Given the description of an element on the screen output the (x, y) to click on. 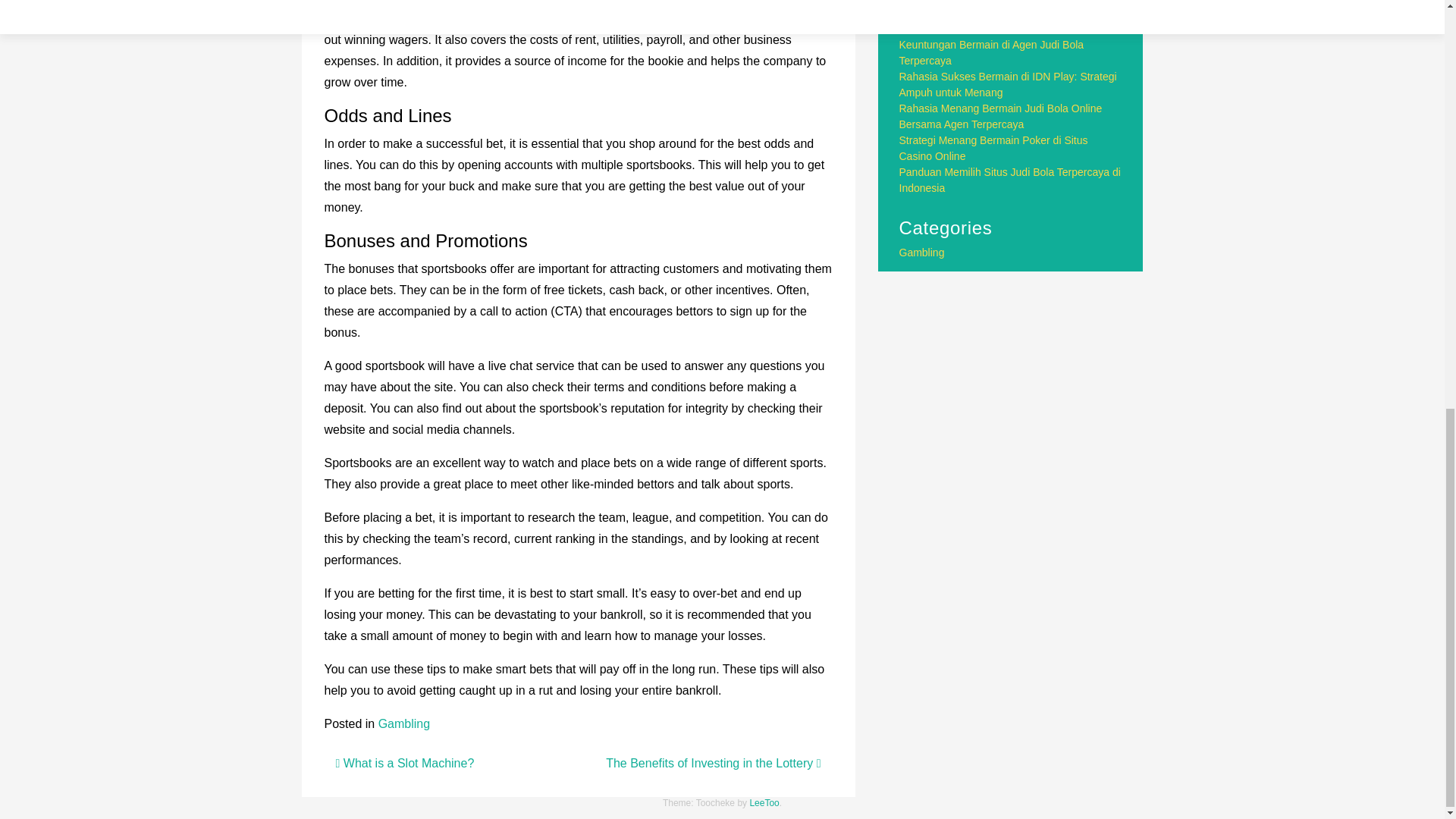
Gambling (921, 252)
The Benefits of Investing in the Lottery  (713, 762)
Panduan Memilih Situs Judi Bola Terpercaya di Indonesia (1010, 180)
Keuntungan Bermain di Agen Judi Bola Terpercaya (991, 52)
Strategi Menang Bermain Poker di Situs Casino Online (993, 148)
LeeToo (763, 802)
Gambling (403, 723)
 What is a Slot Machine? (404, 762)
